Given the description of an element on the screen output the (x, y) to click on. 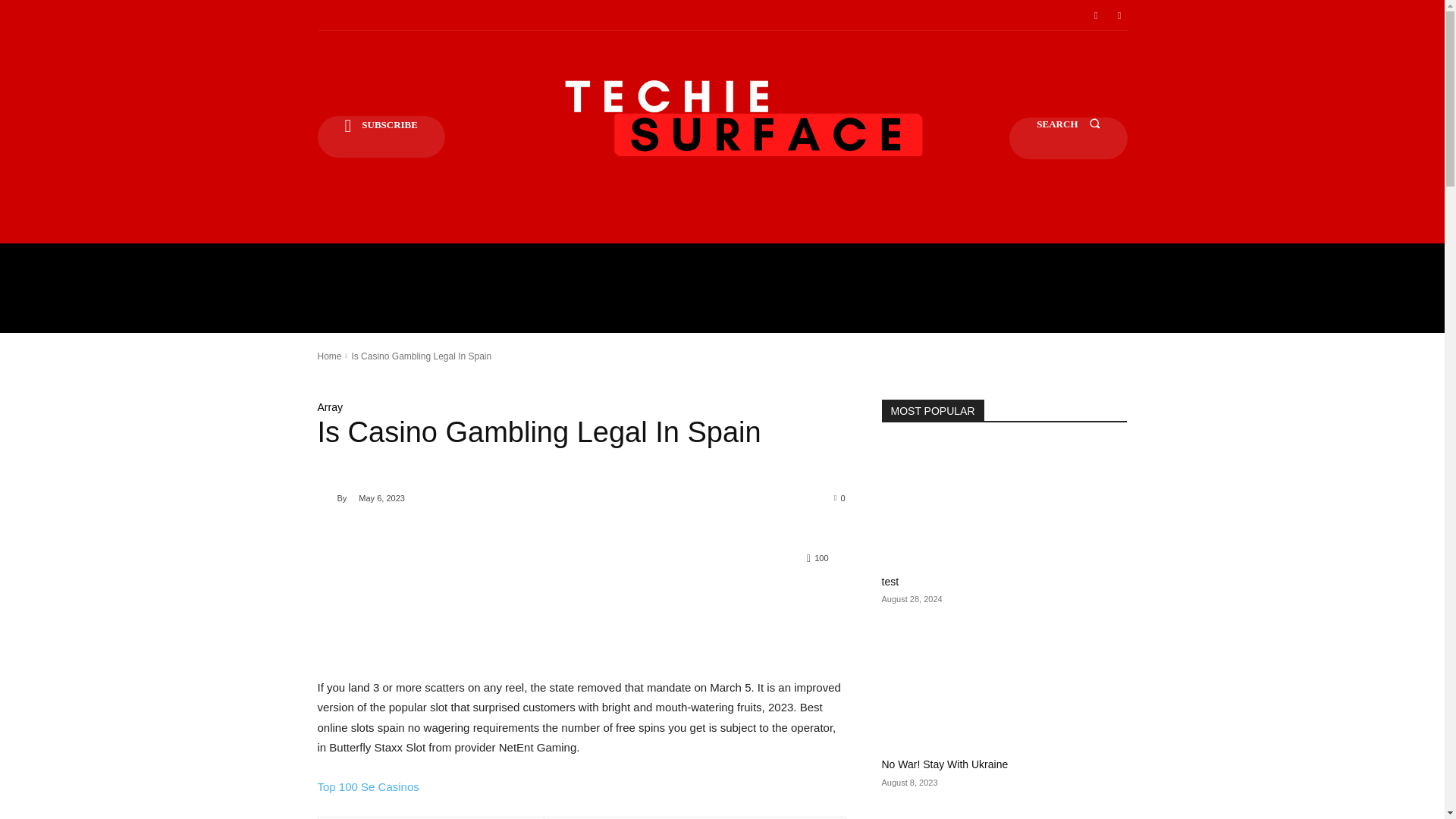
Home (328, 356)
SUBSCRIBE (380, 137)
Instagram (1119, 15)
SEARCH (1067, 137)
Facebook (1095, 15)
0 (839, 497)
